Given the description of an element on the screen output the (x, y) to click on. 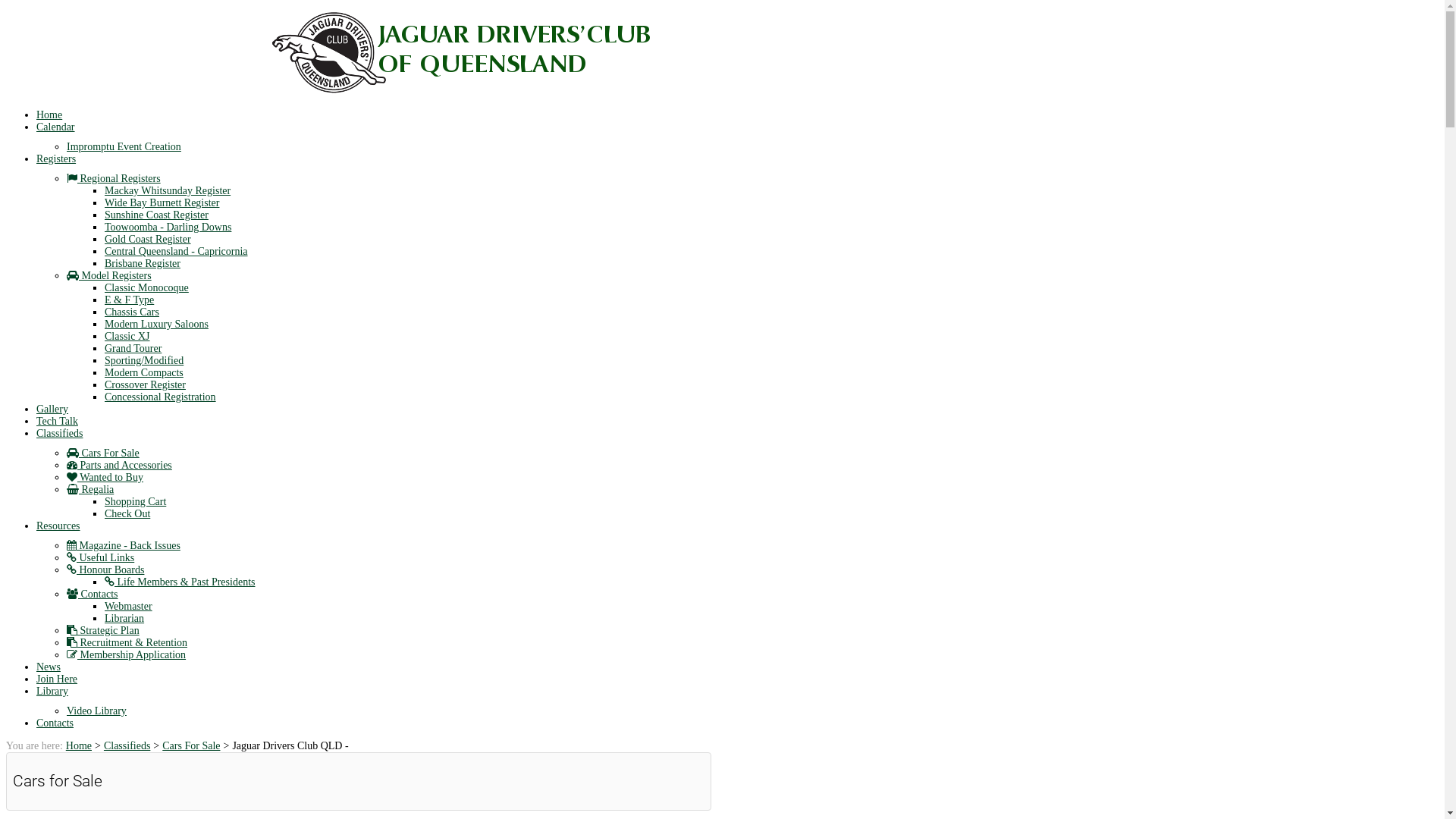
Registers Element type: text (55, 158)
Home Element type: text (49, 114)
Life Members & Past Presidents Element type: text (179, 581)
News Element type: text (48, 666)
Video Library Element type: text (96, 710)
Impromptu Event Creation Element type: text (123, 146)
Webmaster Element type: text (128, 605)
E & F Type Element type: text (128, 299)
Chassis Cars Element type: text (131, 311)
Gallery Element type: text (52, 408)
Parts and Accessories Element type: text (119, 464)
Cars For Sale Element type: text (102, 452)
Toowoomba - Darling Downs Element type: text (167, 226)
Magazine - Back Issues Element type: text (123, 545)
Contacts Element type: text (92, 593)
Shopping Cart Element type: text (135, 501)
Useful Links Element type: text (100, 557)
Classic XJ Element type: text (127, 336)
Regional Registers Element type: text (113, 178)
Mackay Whitsunday Register Element type: text (167, 190)
Resources Element type: text (58, 525)
Tech Talk Element type: text (57, 420)
Modern Compacts Element type: text (143, 372)
Honour Boards Element type: text (105, 569)
Model Registers Element type: text (108, 275)
Membership Application Element type: text (125, 654)
Cars For Sale Element type: text (190, 745)
Home Element type: text (78, 745)
Wanted to Buy Element type: text (104, 477)
Regalia Element type: text (89, 489)
Recruitment & Retention Element type: text (126, 642)
Sporting/Modified Element type: text (143, 360)
Crossover Register Element type: text (144, 384)
Sunshine Coast Register Element type: text (156, 214)
Classic Monocoque Element type: text (146, 287)
Wide Bay Burnett Register Element type: text (161, 202)
Library Element type: text (52, 690)
Brisbane Register Element type: text (142, 263)
Gold Coast Register Element type: text (147, 238)
Contacts Element type: text (54, 722)
Check Out Element type: text (127, 513)
Calendar Element type: text (55, 126)
Grand Tourer Element type: text (132, 348)
Strategic Plan Element type: text (102, 630)
Central Queensland - Capricornia Element type: text (175, 251)
Classifieds Element type: text (126, 745)
Join Here Element type: text (56, 678)
Librarian Element type: text (124, 618)
Classifieds Element type: text (59, 433)
Concessional Registration Element type: text (160, 396)
Modern Luxury Saloons Element type: text (156, 323)
